Given the description of an element on the screen output the (x, y) to click on. 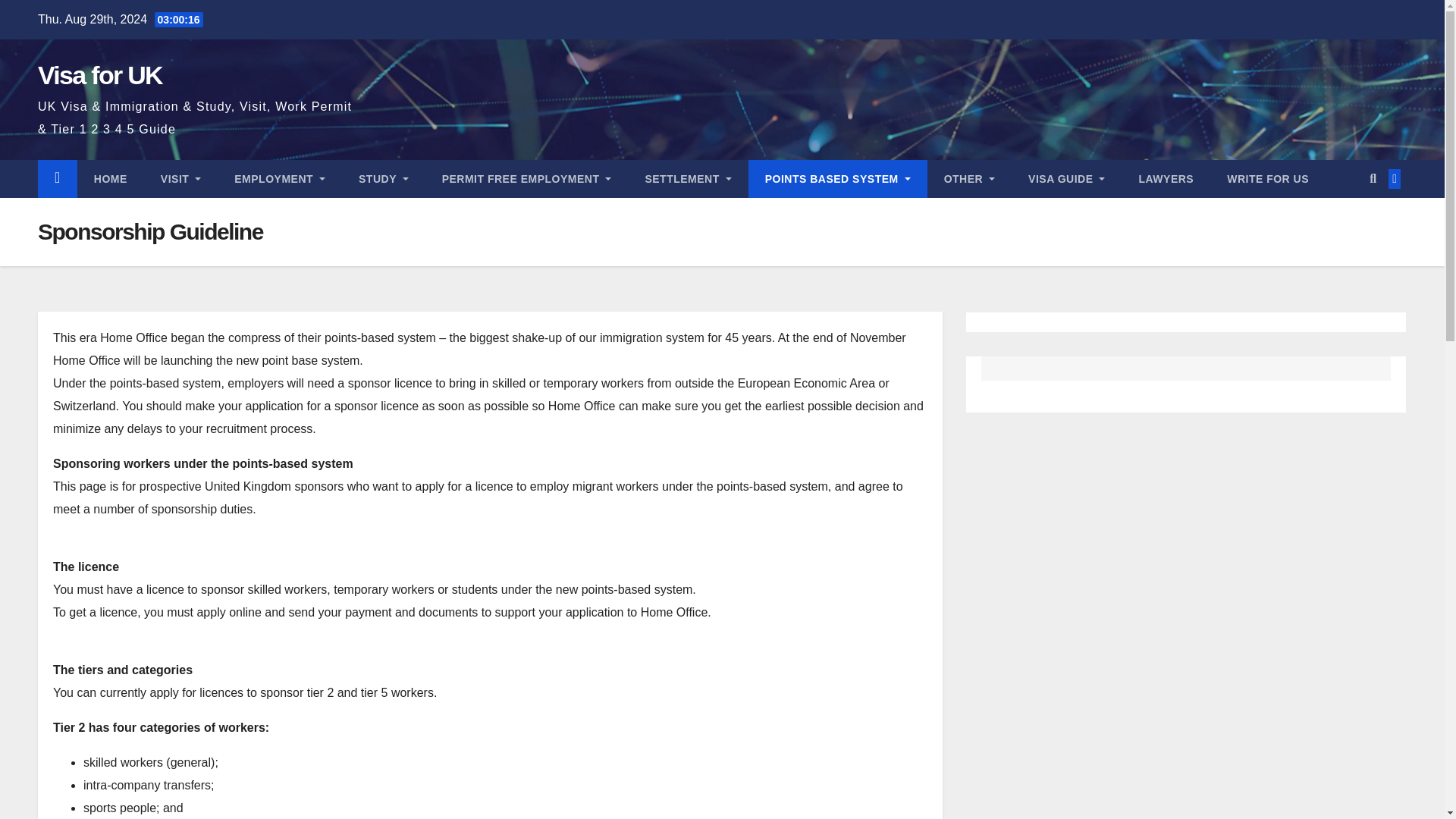
VISIT (180, 178)
Visa for UK (99, 74)
EMPLOYMENT (279, 178)
HOME (110, 178)
Visit (180, 178)
Home (110, 178)
